Given the description of an element on the screen output the (x, y) to click on. 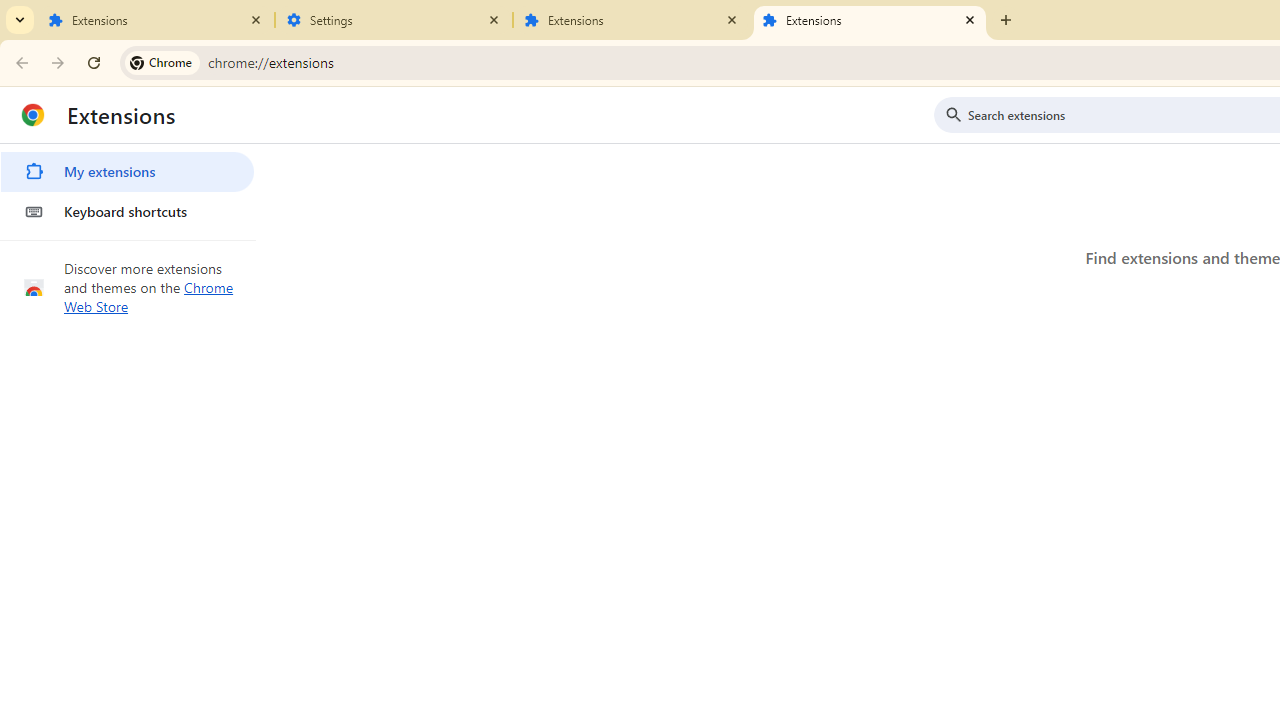
Extensions (156, 20)
Chrome Web Store (149, 296)
